Given the description of an element on the screen output the (x, y) to click on. 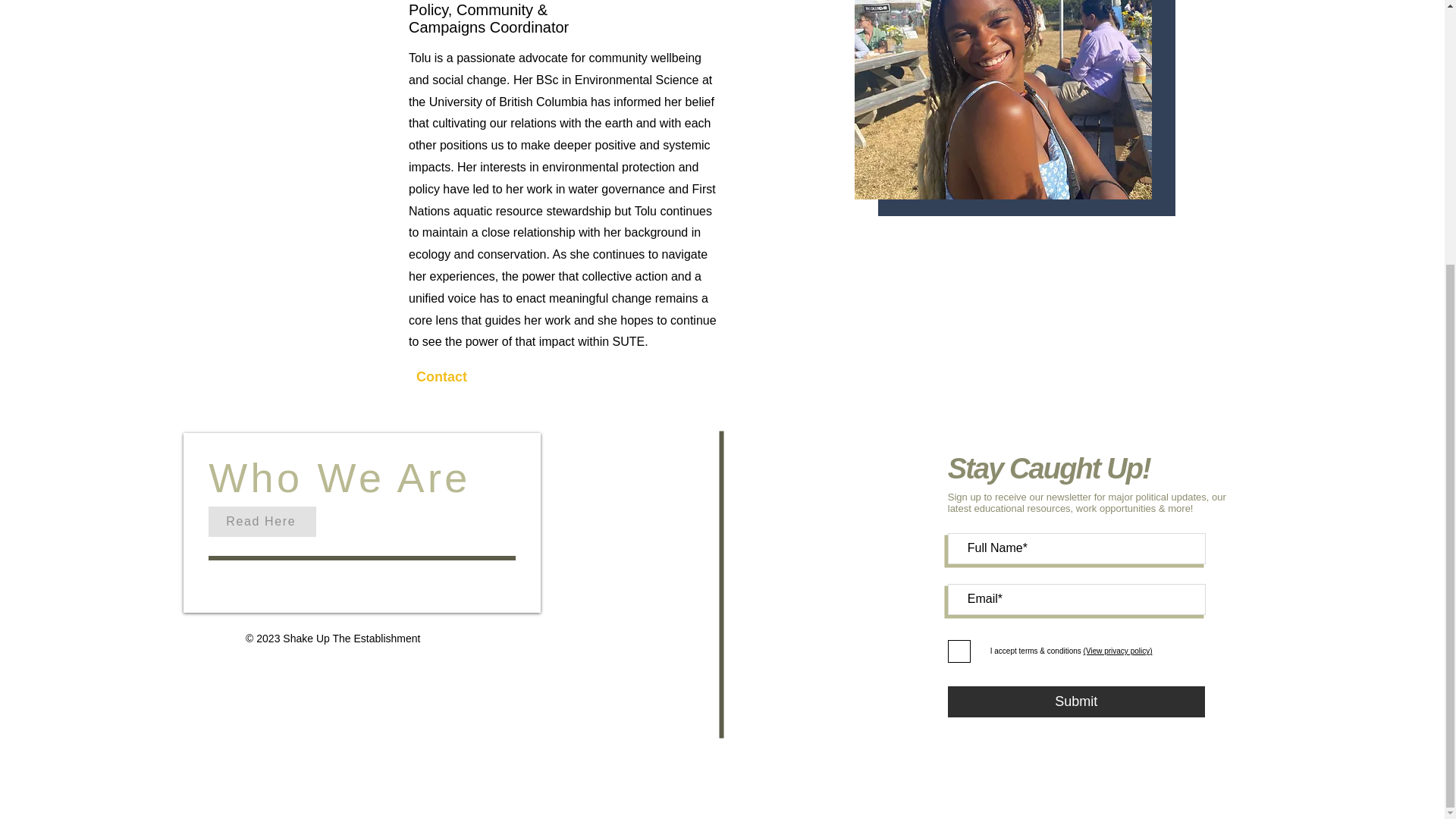
Read Here (261, 521)
Tolu Amuwo.jpeg (1002, 99)
Submit (1076, 701)
